Given the description of an element on the screen output the (x, y) to click on. 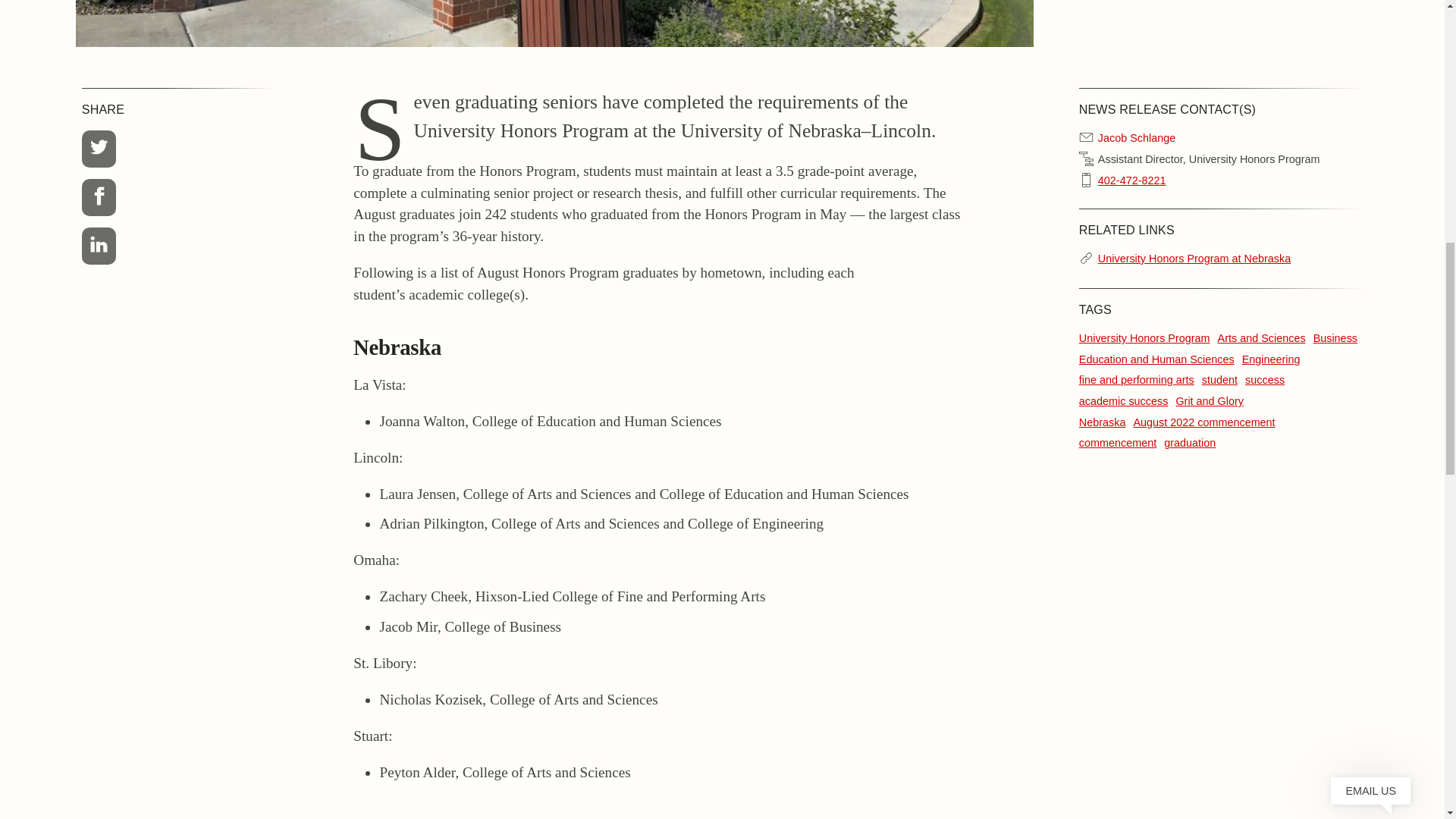
Engineering (1270, 358)
success (1264, 379)
Education and Human Sciences (1156, 358)
Grit and Glory (1208, 400)
402-472-8221 (1131, 180)
Jacob Schlange (1135, 138)
graduation (1189, 442)
University Honors Program (1143, 337)
August 2022 commencement (1203, 422)
University Honors Program at Nebraska (1193, 258)
